Given the description of an element on the screen output the (x, y) to click on. 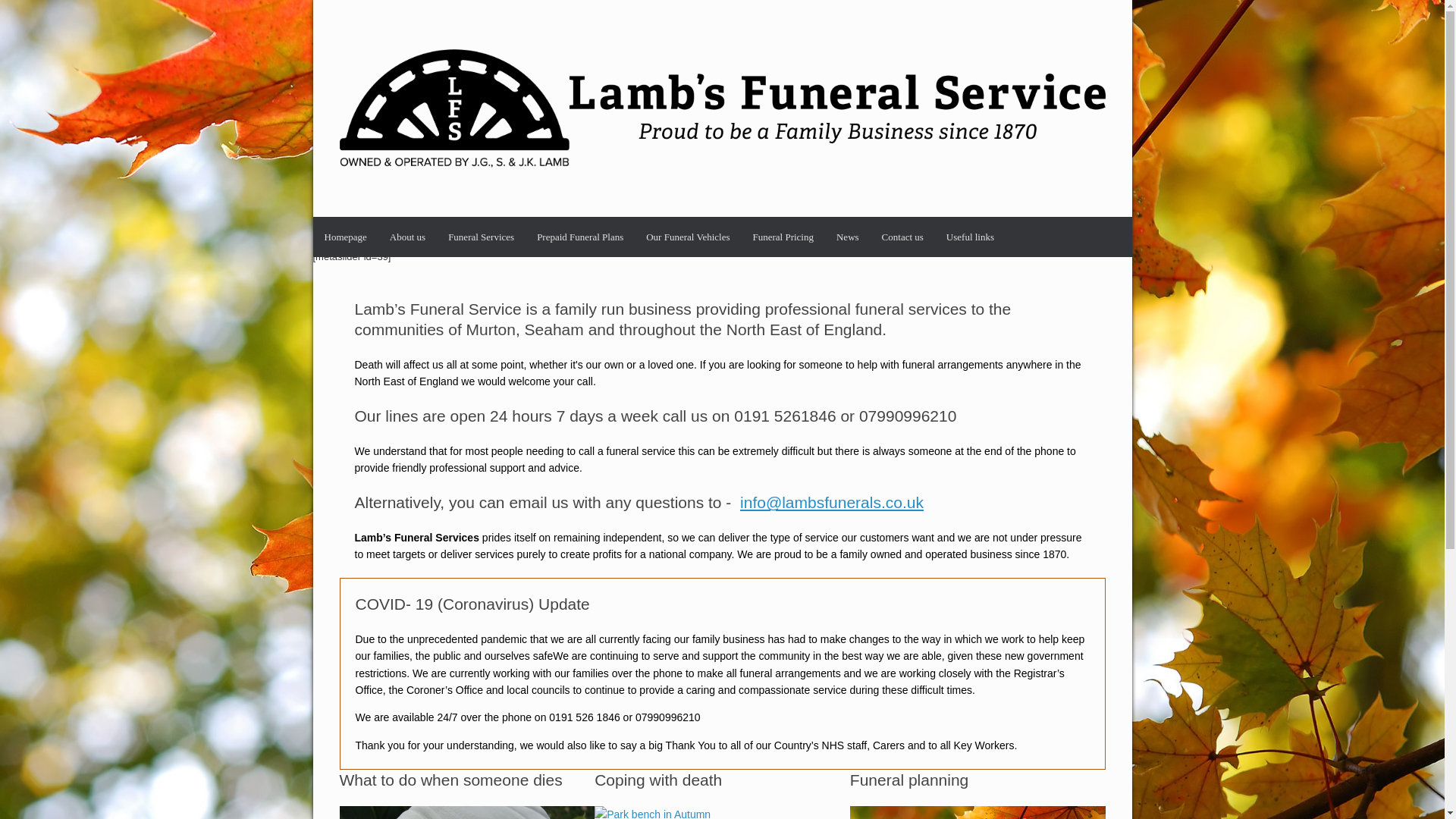
Funeral Pricing (783, 237)
Homepage (345, 237)
Useful links (970, 237)
Prepaid Funeral Plans (579, 237)
Funeral Services (480, 237)
About us (407, 237)
Contact us (902, 237)
News (847, 237)
Our Funeral Vehicles (687, 237)
